Given the description of an element on the screen output the (x, y) to click on. 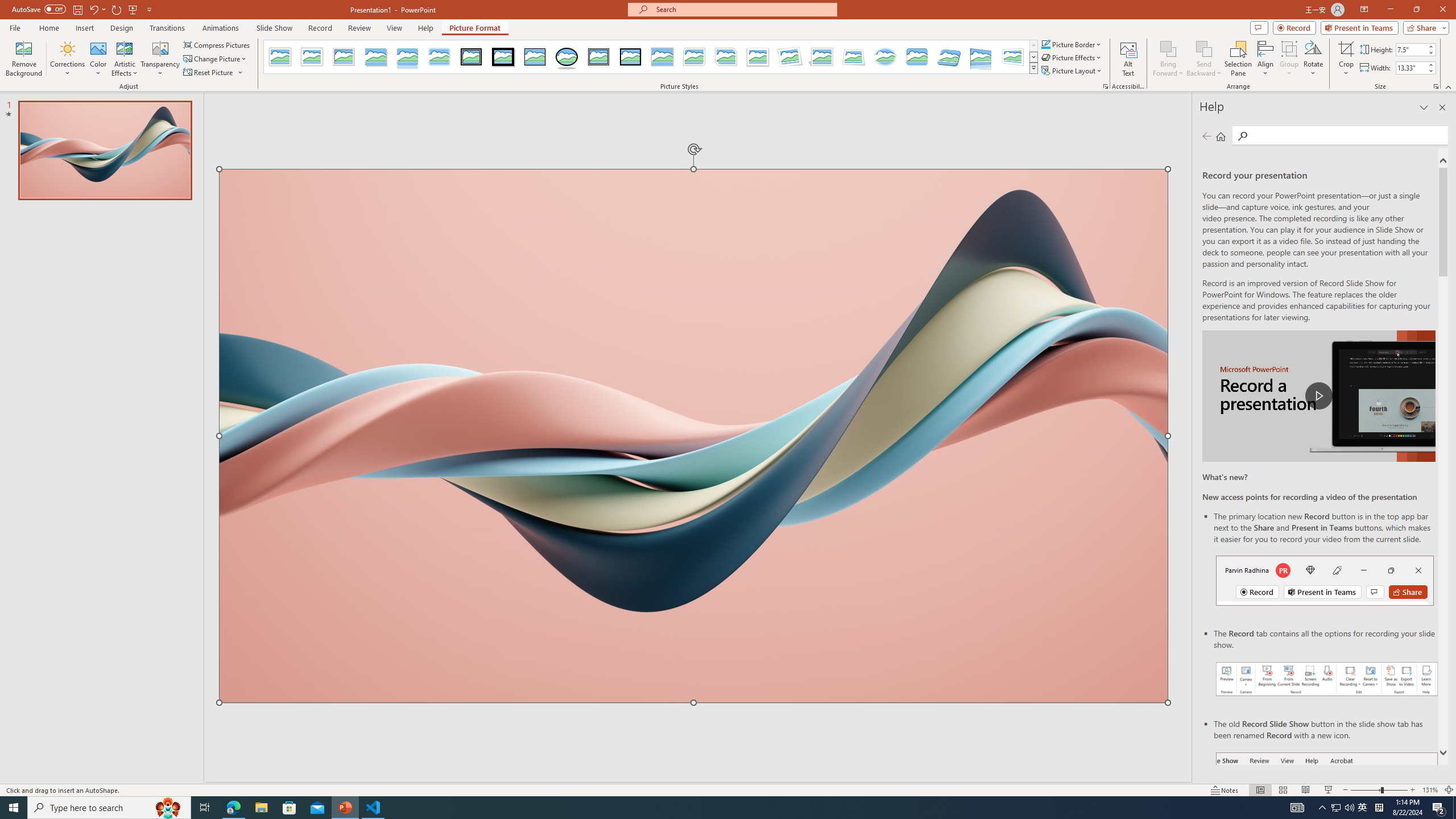
Moderate Frame, White (758, 56)
Moderate Frame, Black (630, 56)
Notes  (1225, 790)
AutoSave (38, 9)
Relaxed Perspective, White (853, 56)
Color (97, 58)
Slide Show (273, 28)
Search (1241, 136)
Insert (83, 28)
Collapse the Ribbon (1448, 86)
Zoom to Fit  (1449, 790)
Record button in top bar (1324, 580)
Bevel Perspective (949, 56)
Picture... (1104, 85)
